Given the description of an element on the screen output the (x, y) to click on. 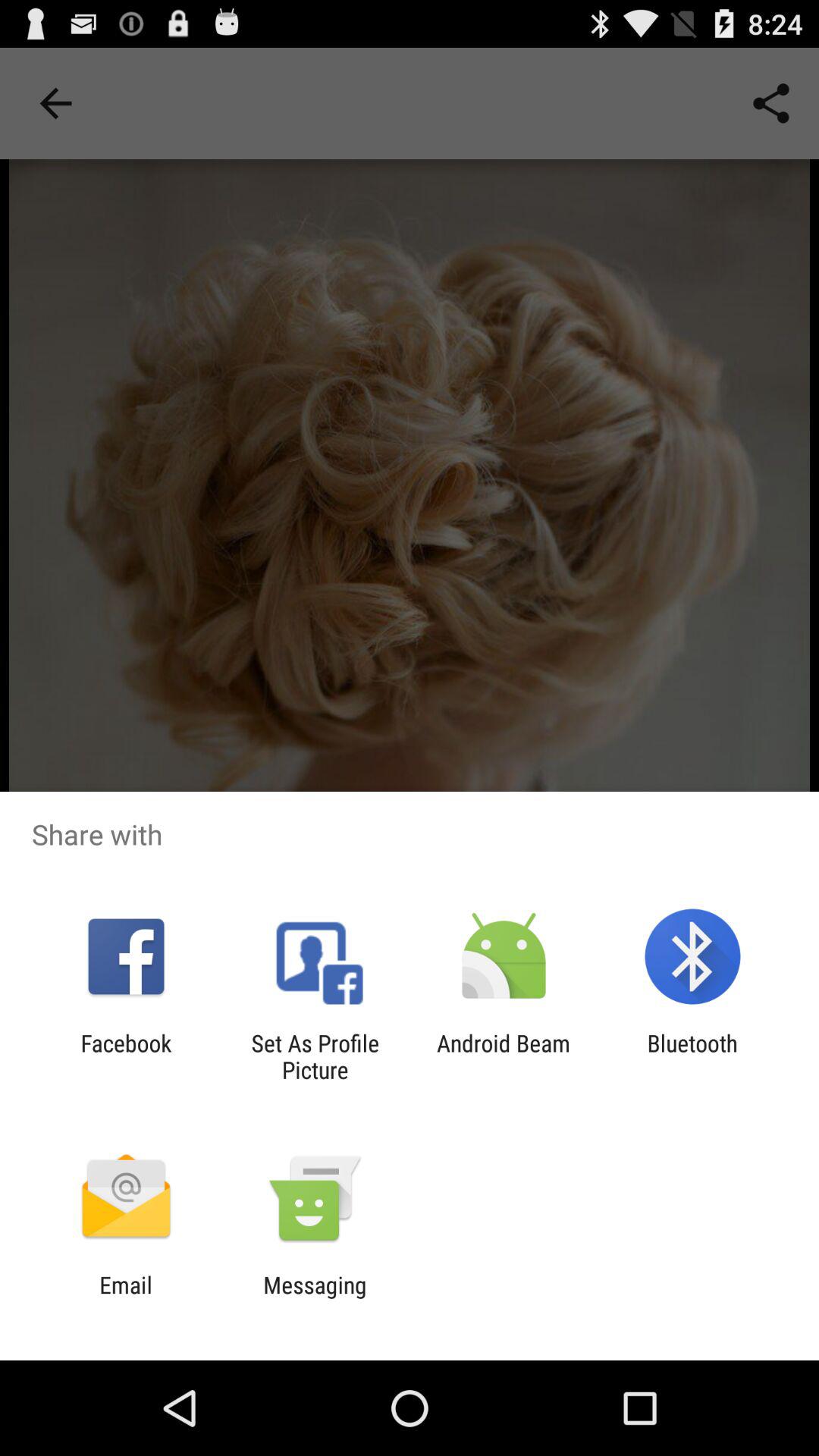
turn on app to the left of set as profile icon (125, 1056)
